Given the description of an element on the screen output the (x, y) to click on. 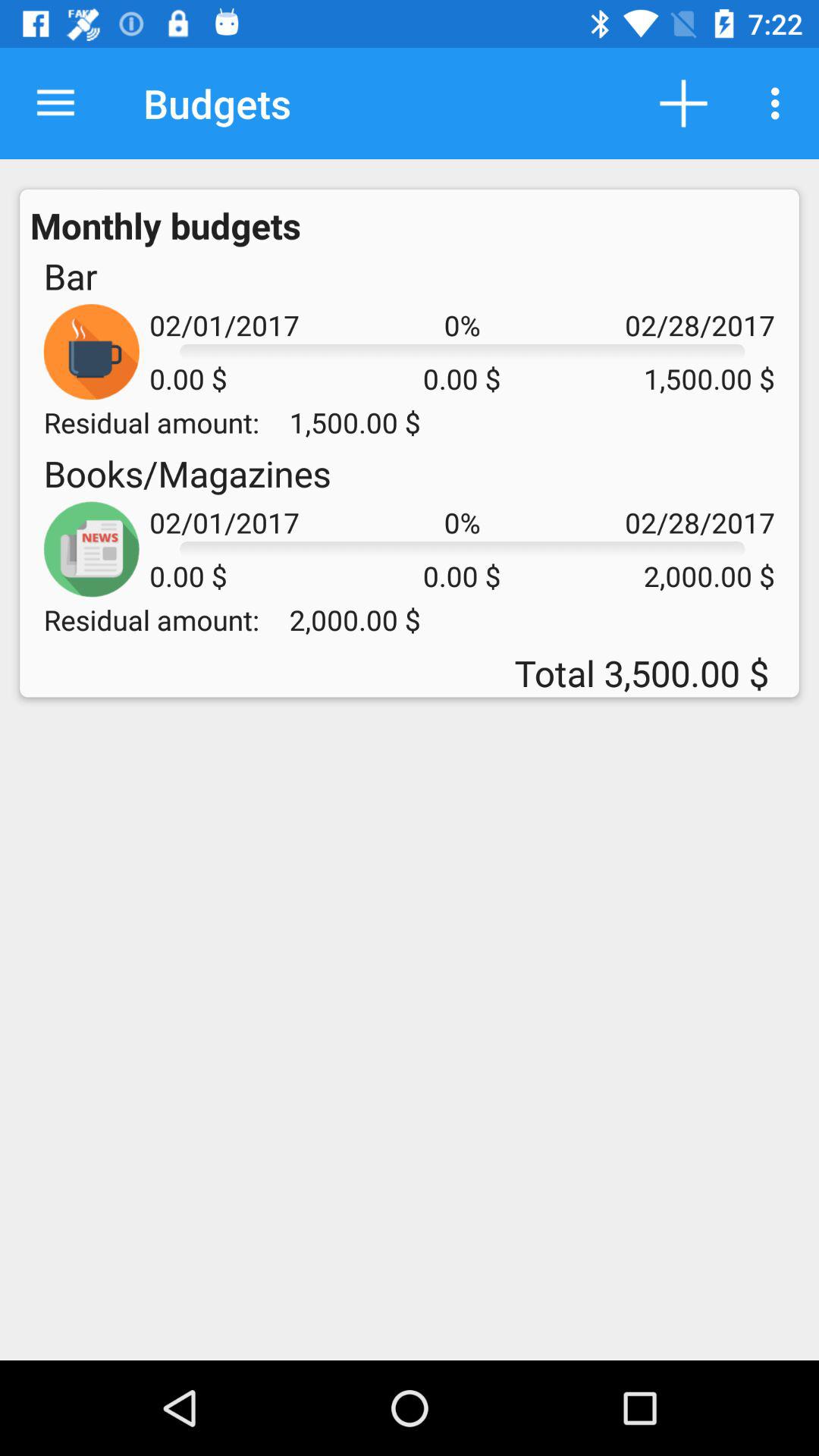
jump until the books/magazines item (187, 473)
